Given the description of an element on the screen output the (x, y) to click on. 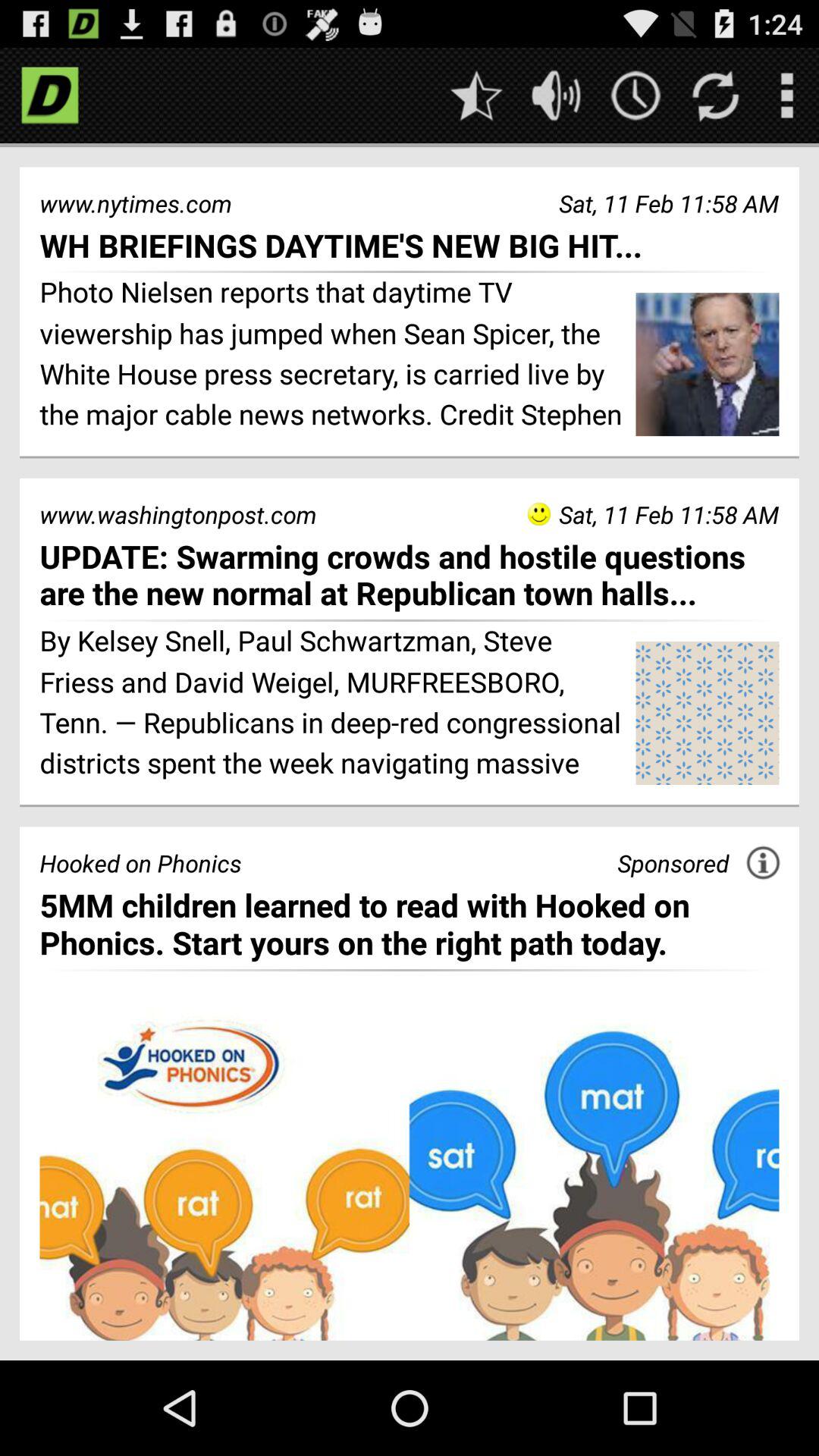
go to homepage (49, 95)
